Given the description of an element on the screen output the (x, y) to click on. 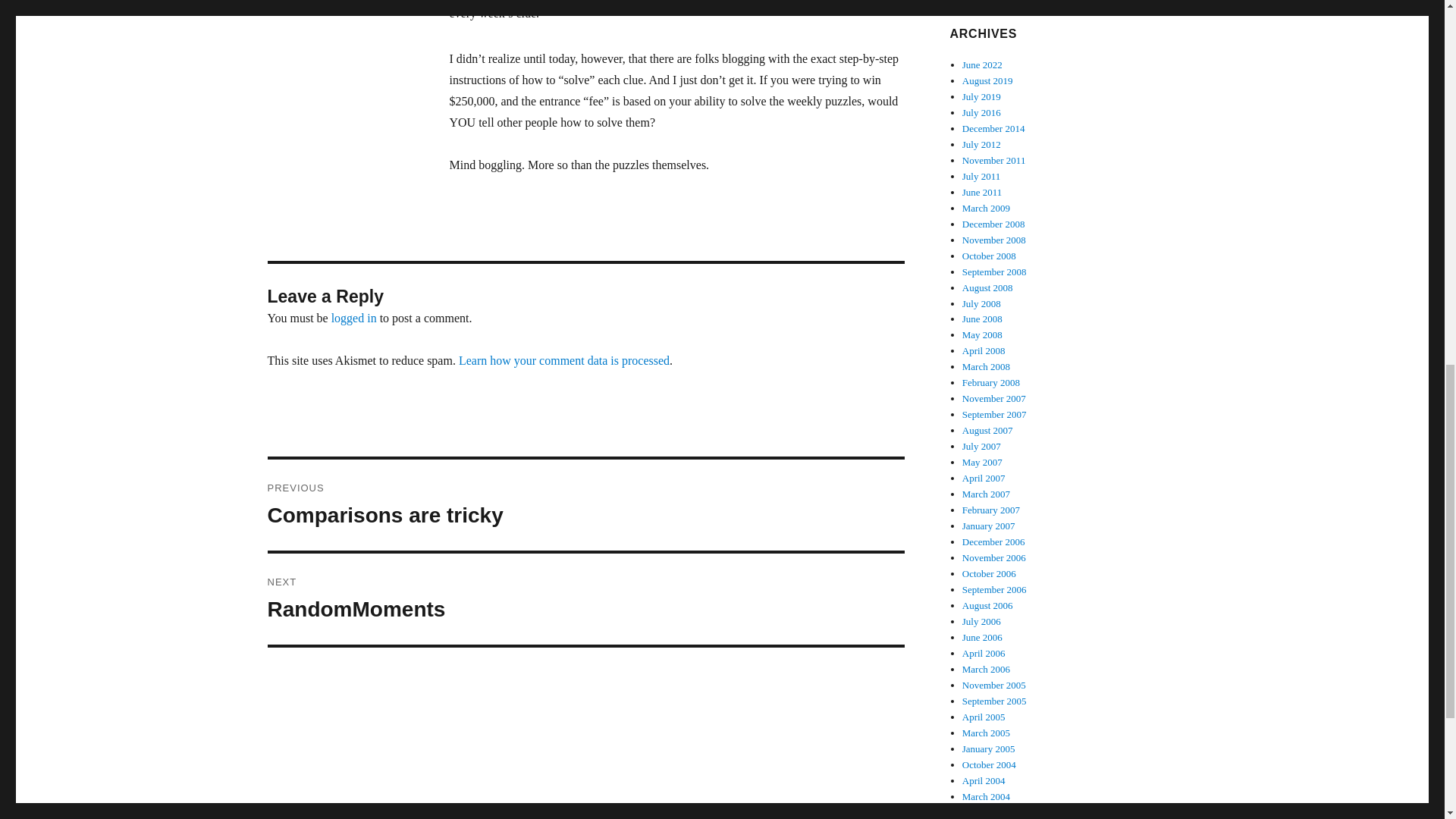
logged in (354, 318)
March 2009 (585, 504)
November 2011 (986, 207)
August 2008 (994, 160)
July 2019 (987, 287)
June 2022 (981, 96)
October 2008 (982, 64)
September 2008 (989, 255)
November 2008 (994, 271)
